Given the description of an element on the screen output the (x, y) to click on. 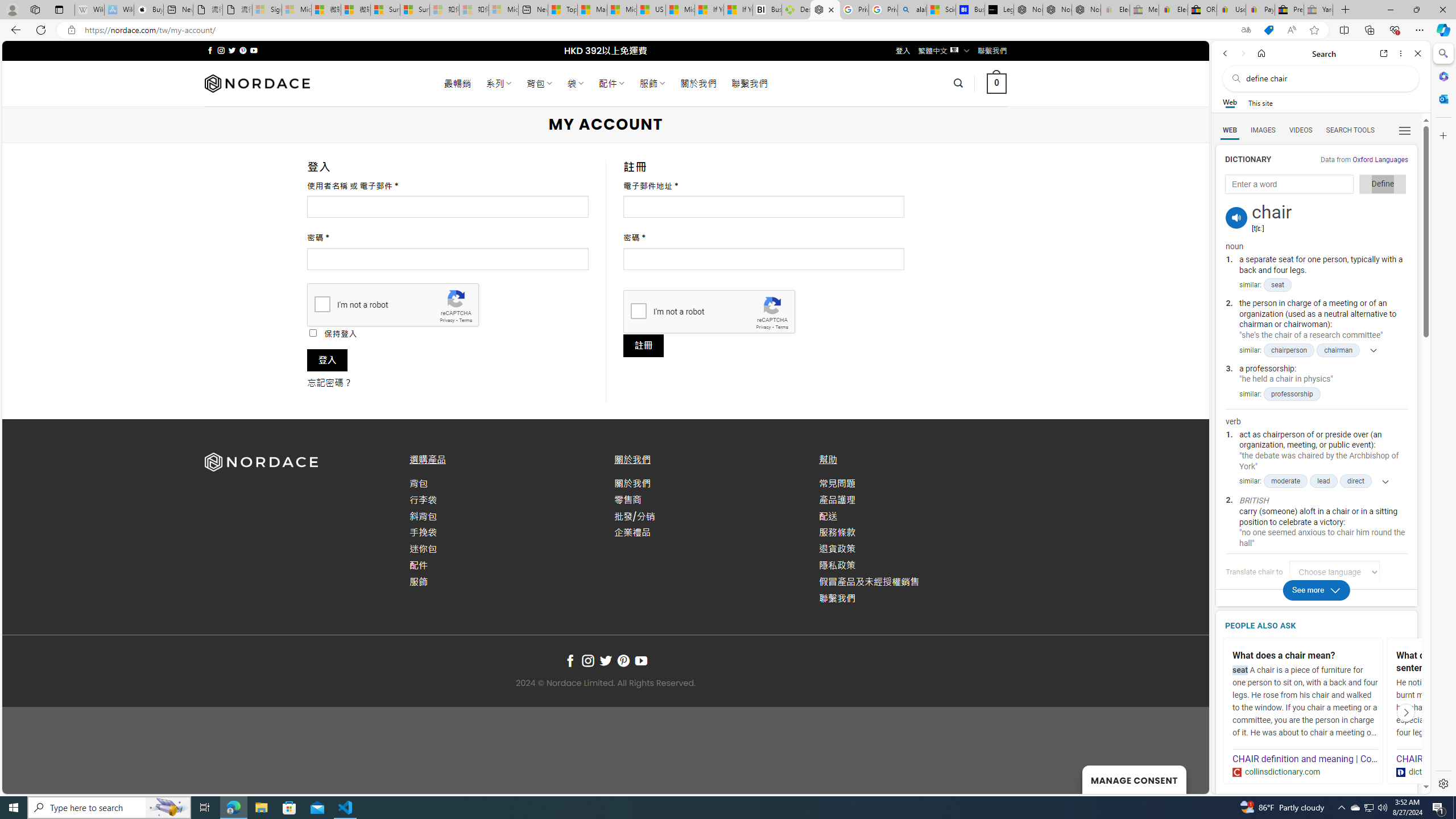
Microsoft Services Agreement - Sleeping (295, 9)
Descarga Driver Updater (796, 9)
chairperson (1288, 350)
Search Filter, Search Tools (1350, 129)
Press Room - eBay Inc. (1288, 9)
I'm not a robot (638, 310)
